Given the description of an element on the screen output the (x, y) to click on. 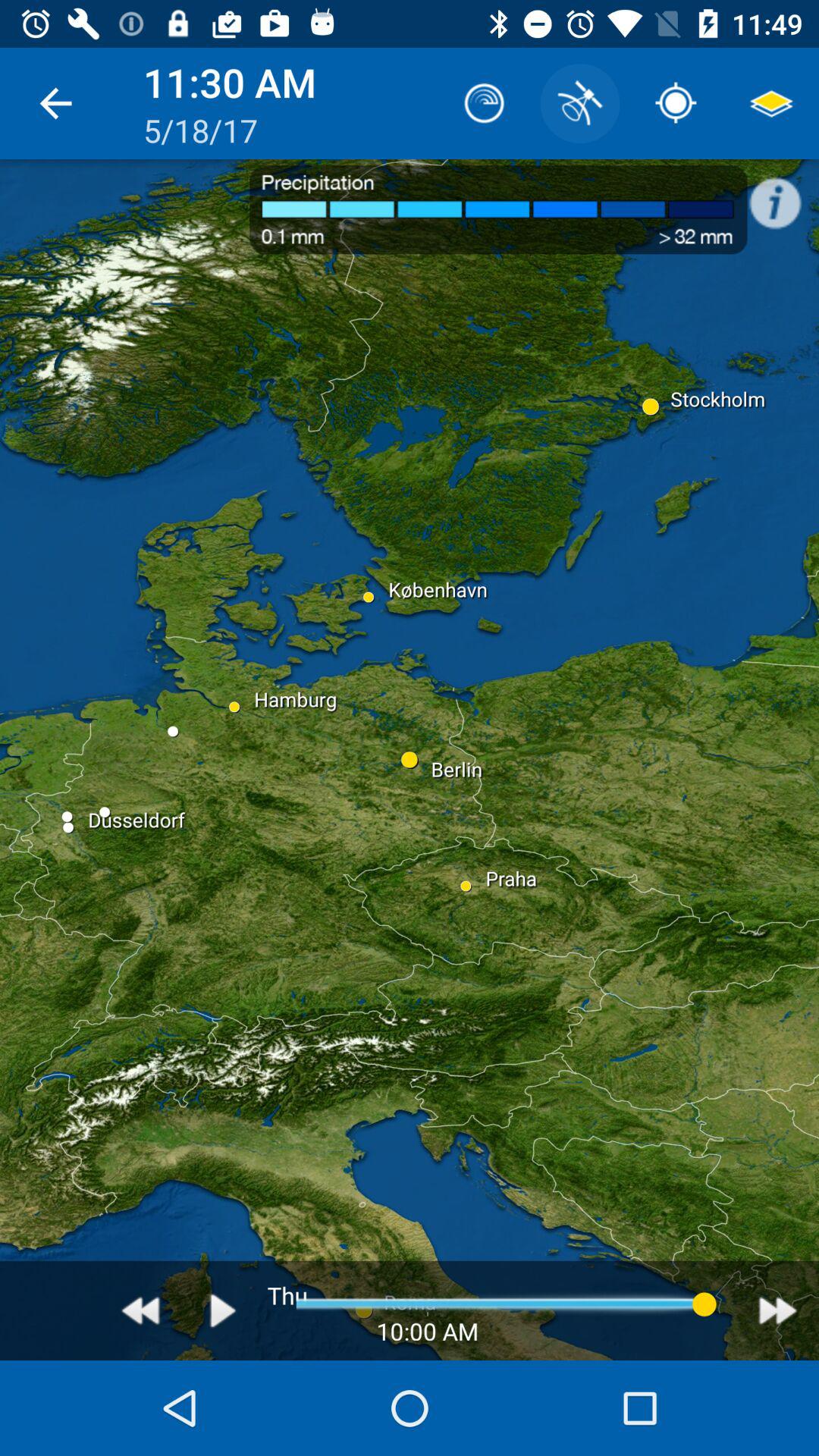
avanar hora (777, 1310)
